Given the description of an element on the screen output the (x, y) to click on. 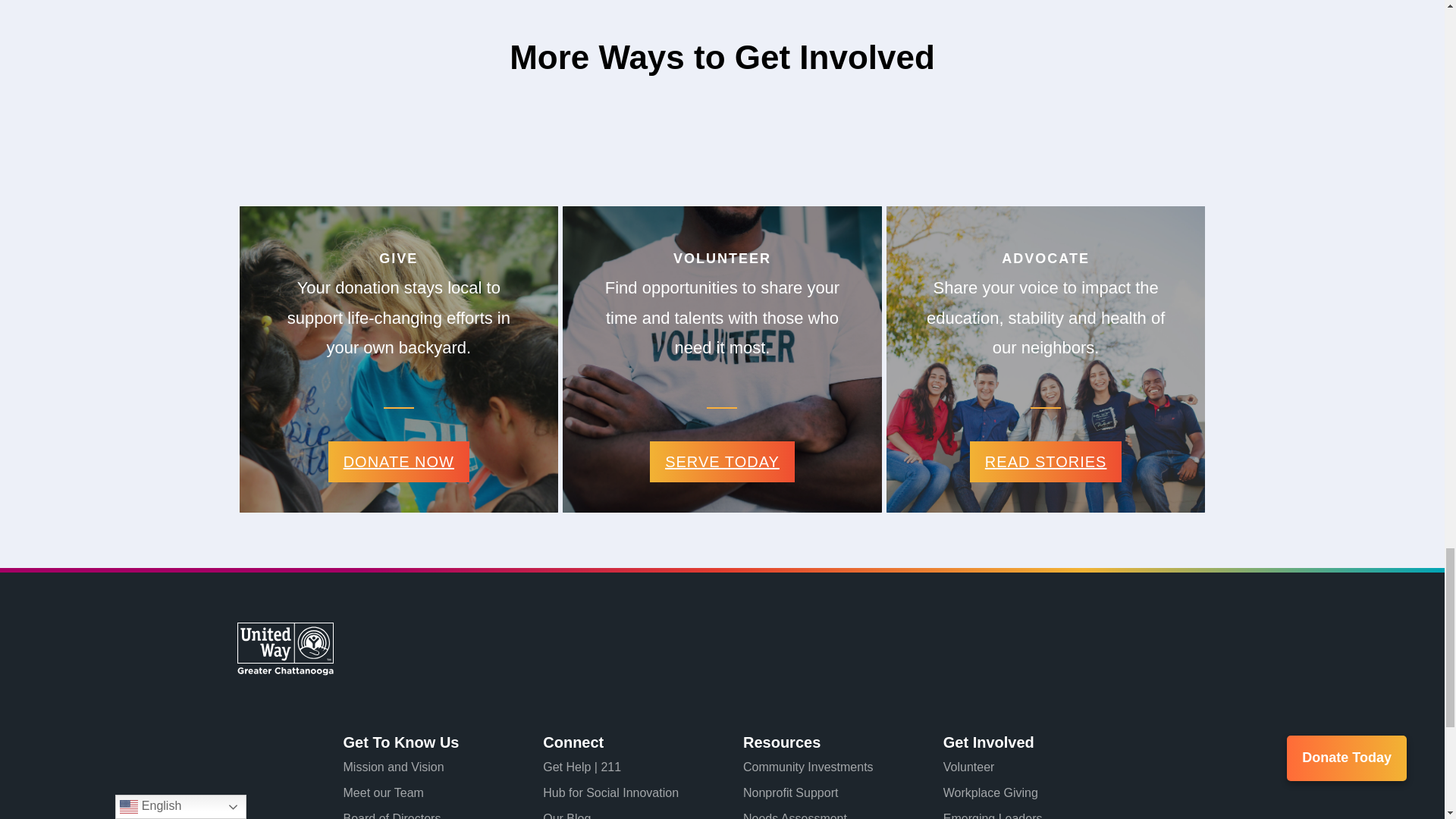
footer-logo (284, 648)
